Given the description of an element on the screen output the (x, y) to click on. 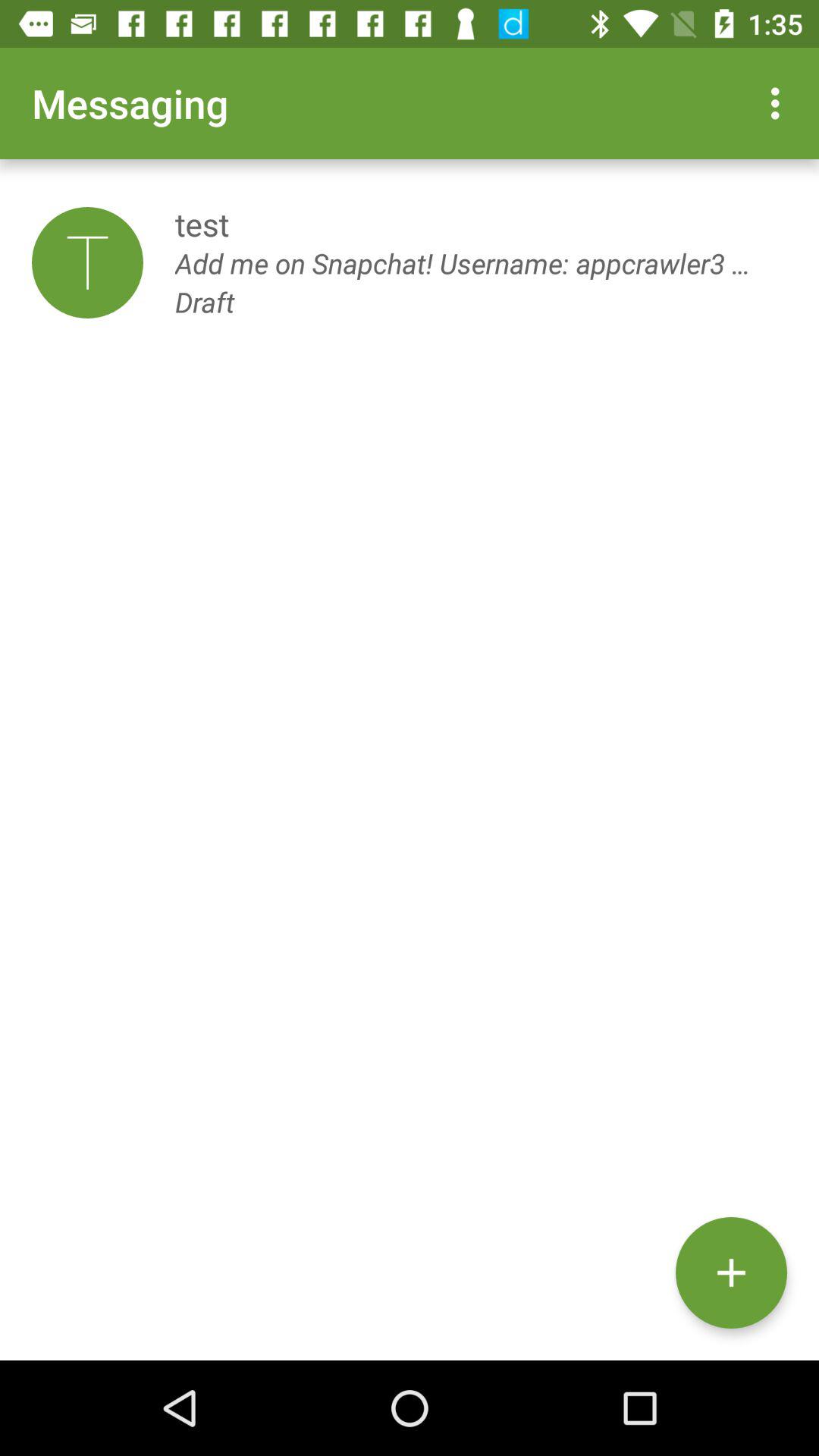
click item at the bottom right corner (731, 1272)
